Given the description of an element on the screen output the (x, y) to click on. 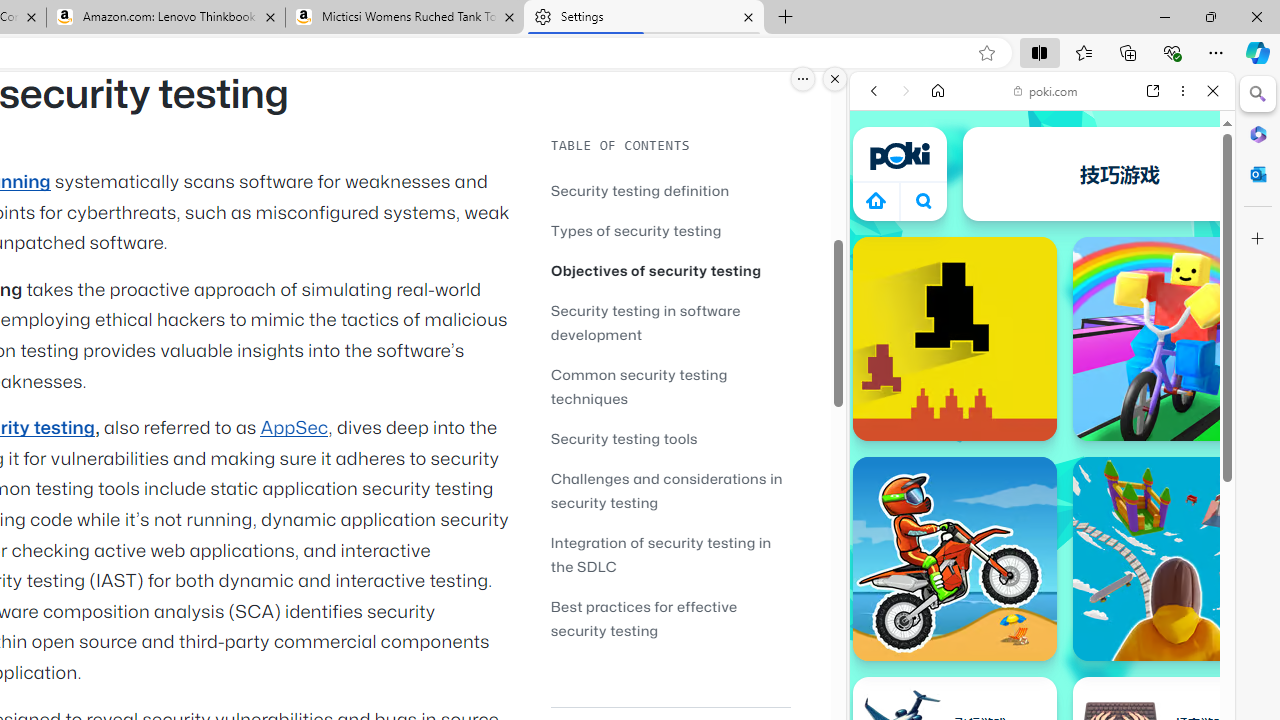
Integration of security testing in the SDLC (670, 553)
Moto X3M Moto X3M (954, 558)
Best practices for effective security testing (644, 618)
Class: aprWdaSScyiJf4Jvmsx9 (875, 200)
Sports Games (1042, 666)
Types of security testing (670, 230)
Close split screen. (835, 79)
